Given the description of an element on the screen output the (x, y) to click on. 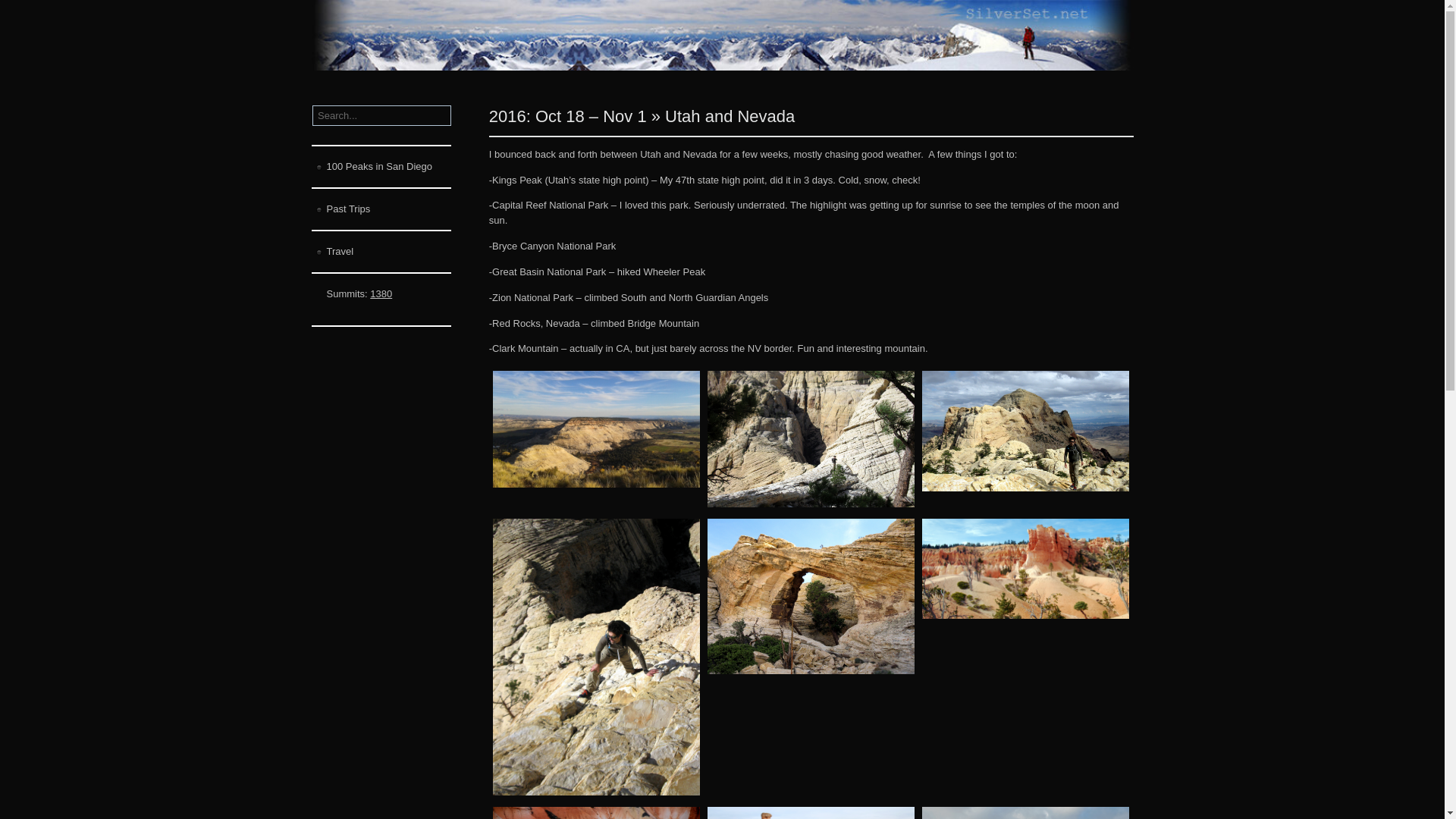
Past Trips (380, 209)
Travel (380, 251)
1380 (380, 293)
100 Peaks in San Diego (380, 167)
